Given the description of an element on the screen output the (x, y) to click on. 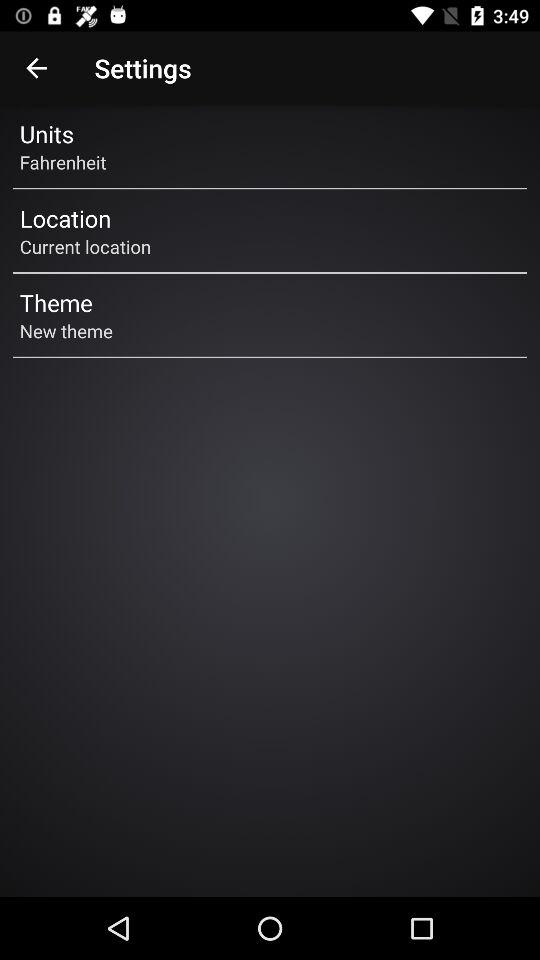
choose icon next to the settings icon (36, 68)
